Given the description of an element on the screen output the (x, y) to click on. 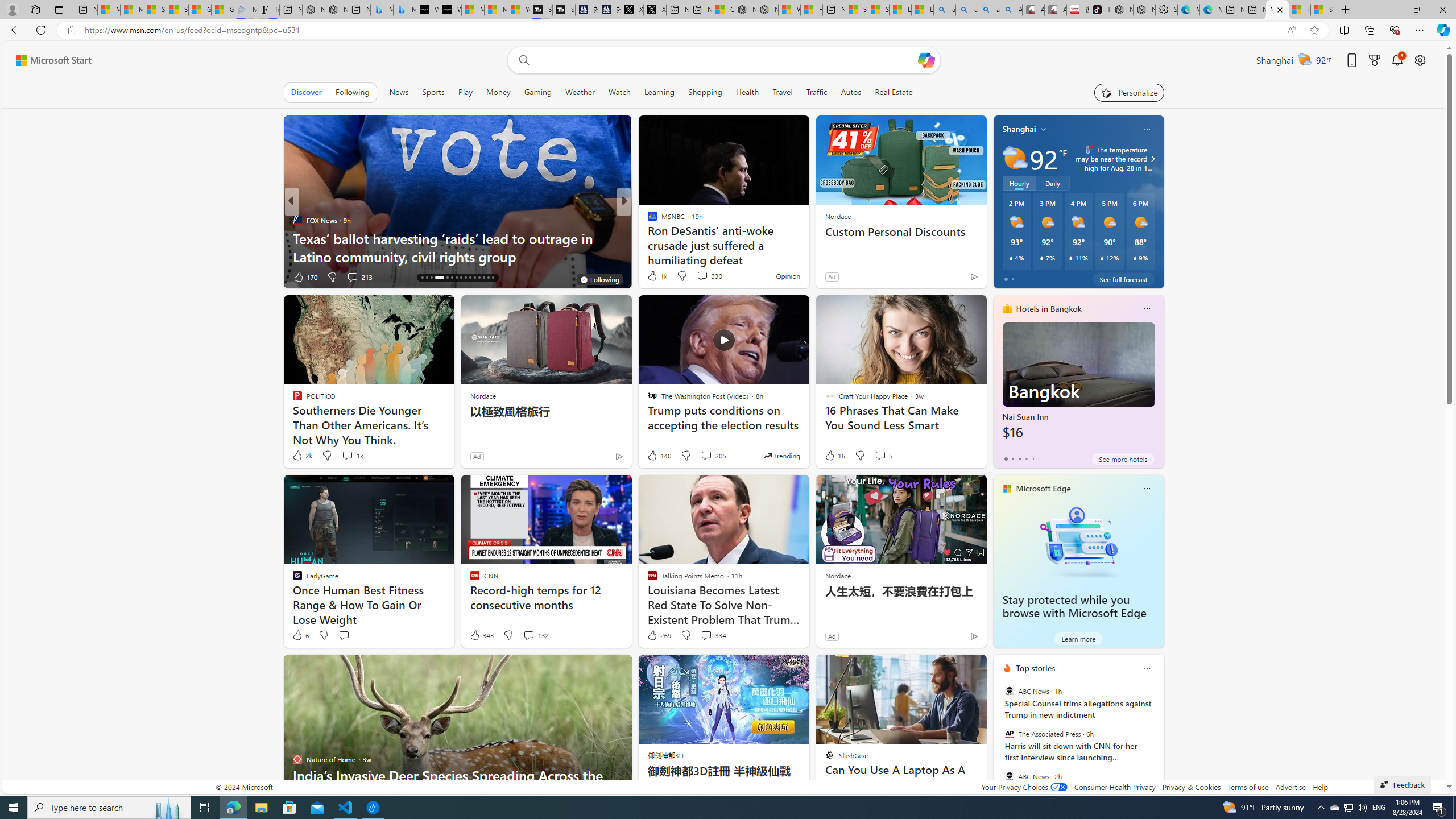
View comments 353 Comment (709, 276)
AutomationID: tab-26 (474, 277)
91 Like (652, 276)
View comments 213 Comment (352, 276)
View comments 266 Comment (709, 276)
Gilma and Hector both pose tropical trouble for Hawaii (222, 9)
Amazon Echo Robot - Search Images (1010, 9)
AutomationID: tab-17 (426, 277)
